Given the description of an element on the screen output the (x, y) to click on. 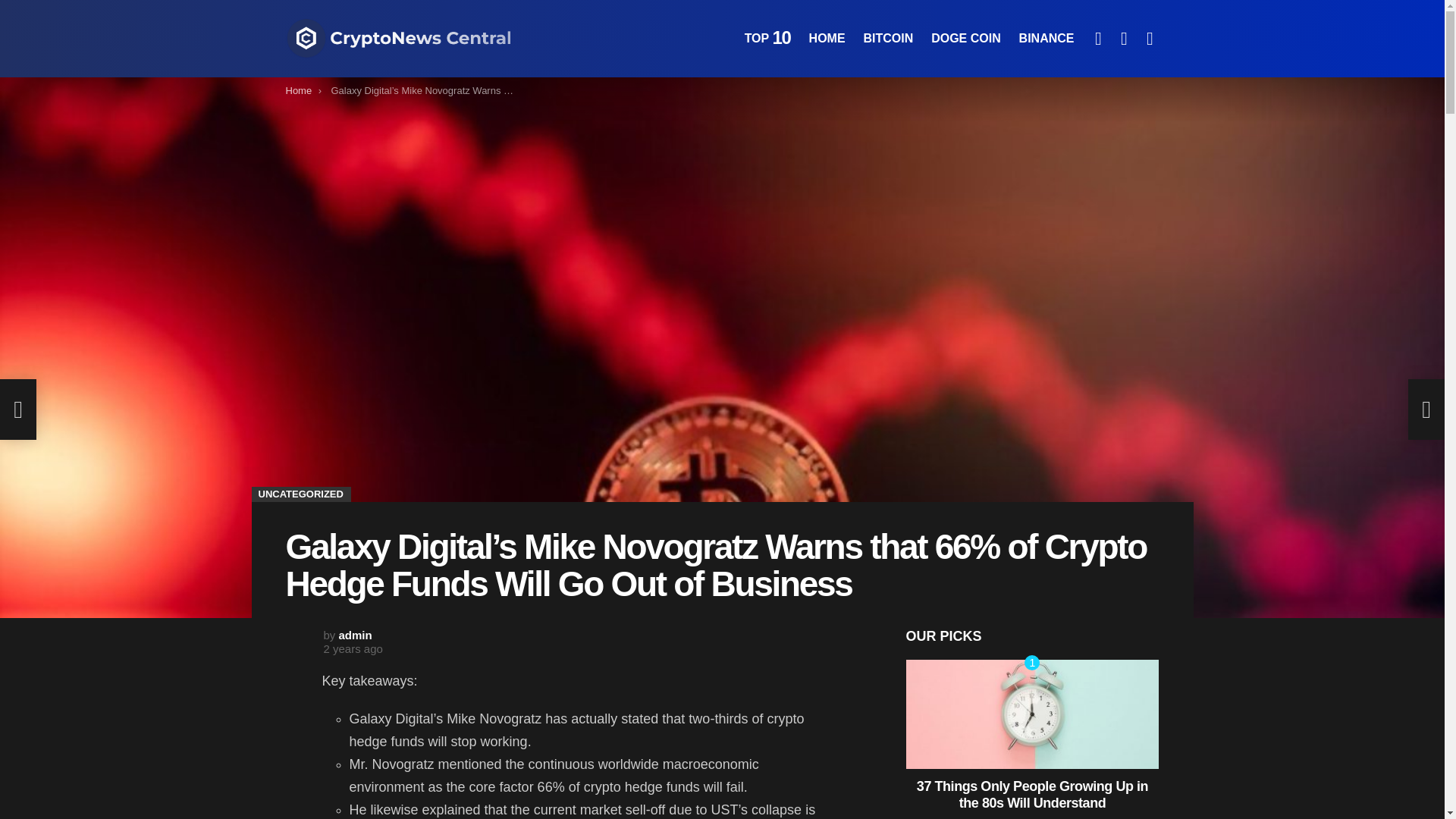
BITCOIN (888, 38)
BINANCE (1046, 38)
FOLLOW US (1097, 38)
Follow us (1097, 38)
Home (298, 90)
June 10, 2022, 9:10 am (352, 649)
UNCATEGORIZED (300, 494)
admin (355, 634)
LOGIN (1149, 38)
DOGE COIN (966, 38)
TOP 10 (766, 38)
SEARCH (1123, 38)
Posts by admin (355, 634)
HOME (827, 38)
